Given the description of an element on the screen output the (x, y) to click on. 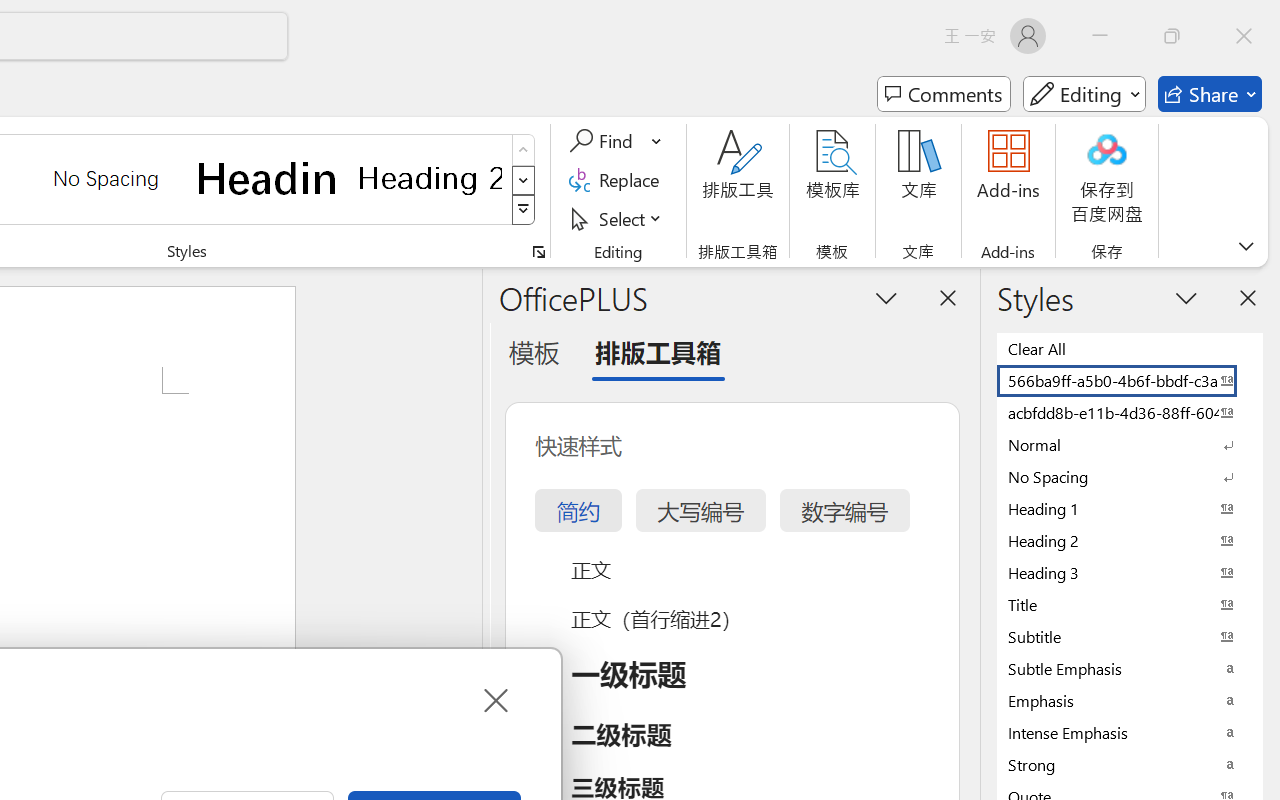
Close (493, 699)
Styles... (538, 252)
Replace... (617, 179)
Ribbon Display Options (1246, 245)
Normal (1130, 444)
Class: NetUIImage (523, 210)
Intense Emphasis (1130, 732)
Task Pane Options (886, 297)
Row up (523, 150)
Find (604, 141)
